Given the description of an element on the screen output the (x, y) to click on. 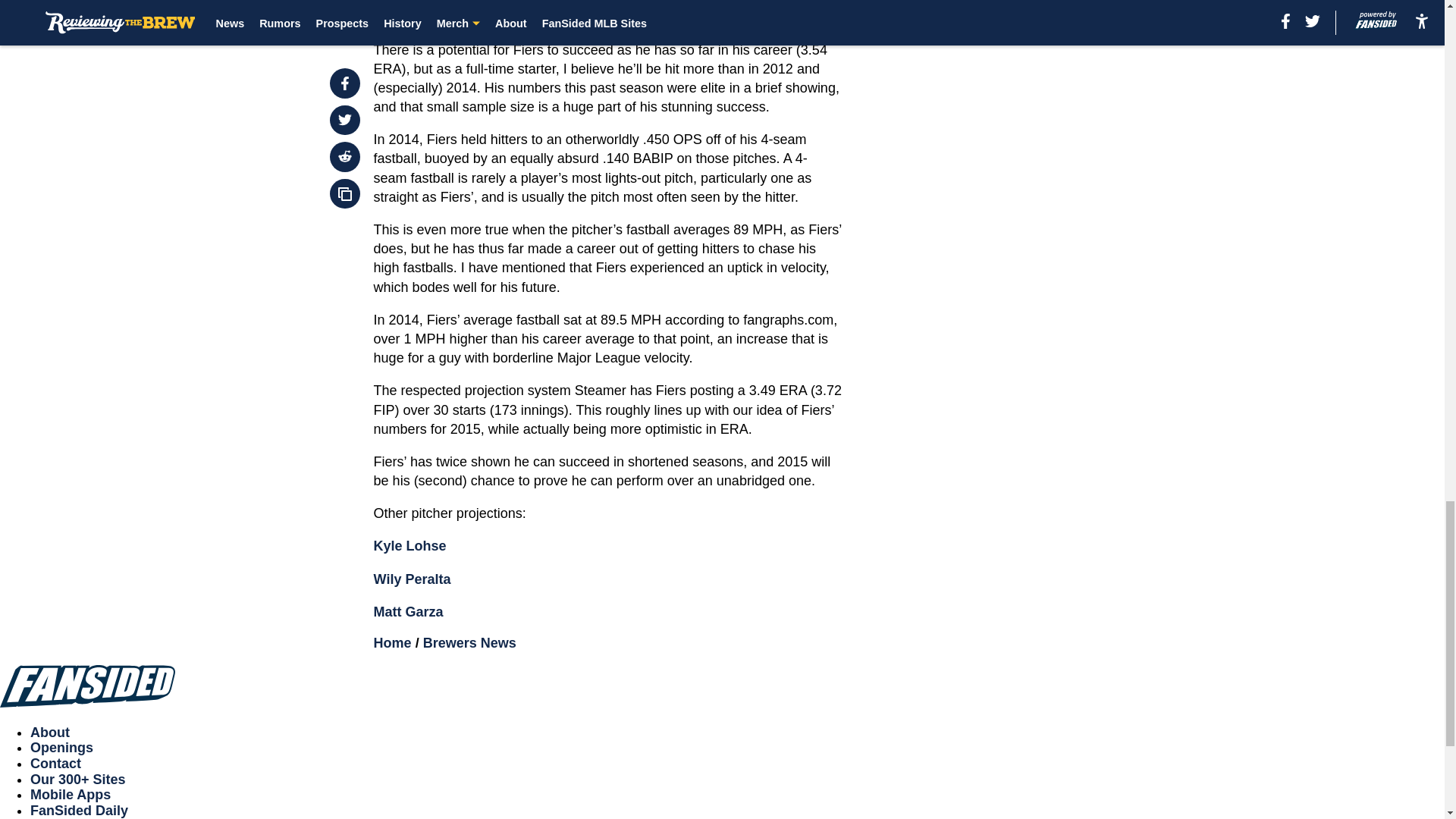
Brewers News (469, 642)
Kyle Lohse (410, 545)
Home (393, 642)
Wily Peralta (412, 579)
Matt Garza (409, 611)
About (49, 732)
